Given the description of an element on the screen output the (x, y) to click on. 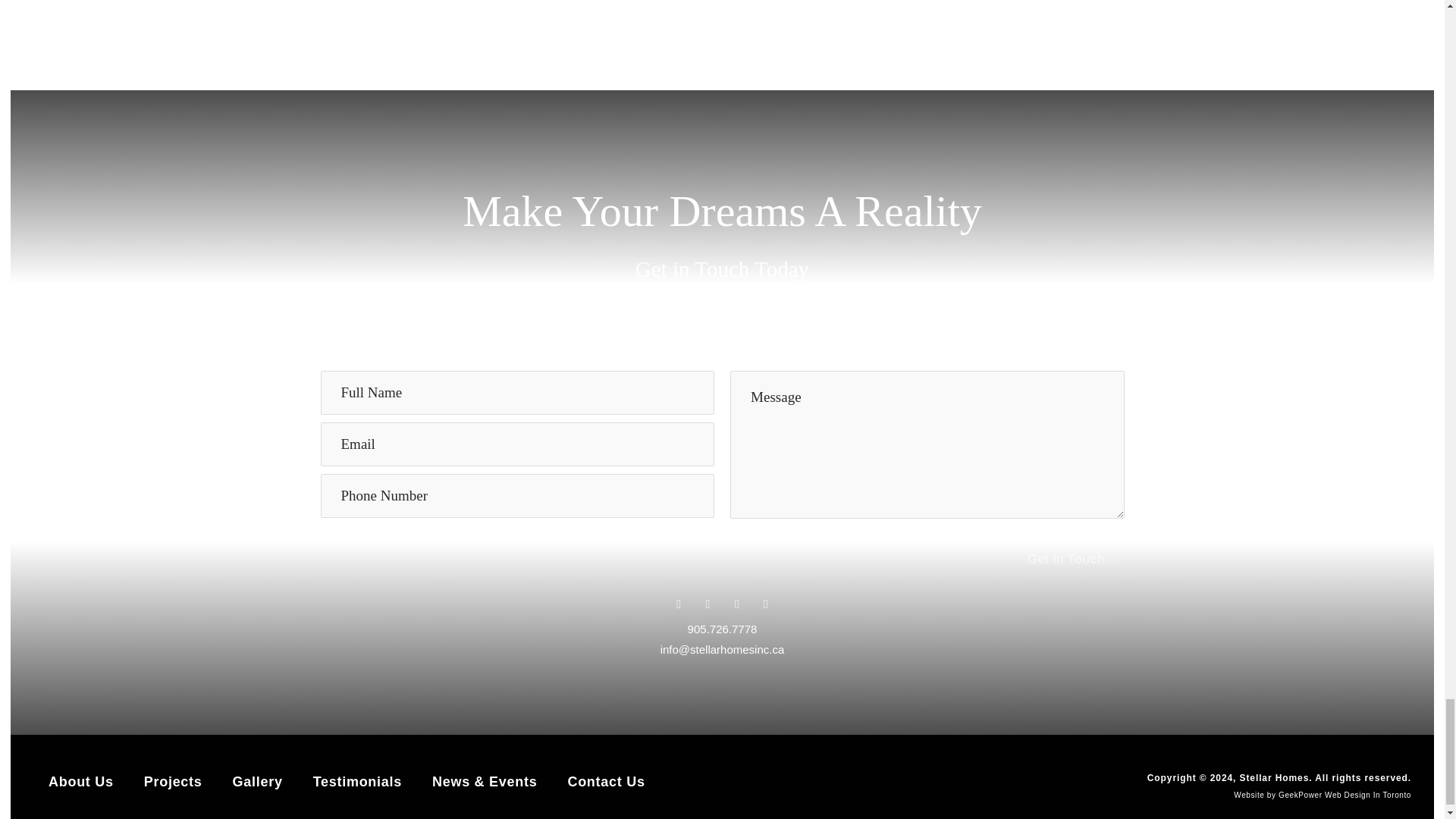
Projects (173, 781)
Testimonials (357, 781)
Get In Touch (1075, 559)
Contact Us (606, 781)
Gallery (257, 781)
Web Design In Toronto (1367, 795)
About Us (80, 781)
